Given the description of an element on the screen output the (x, y) to click on. 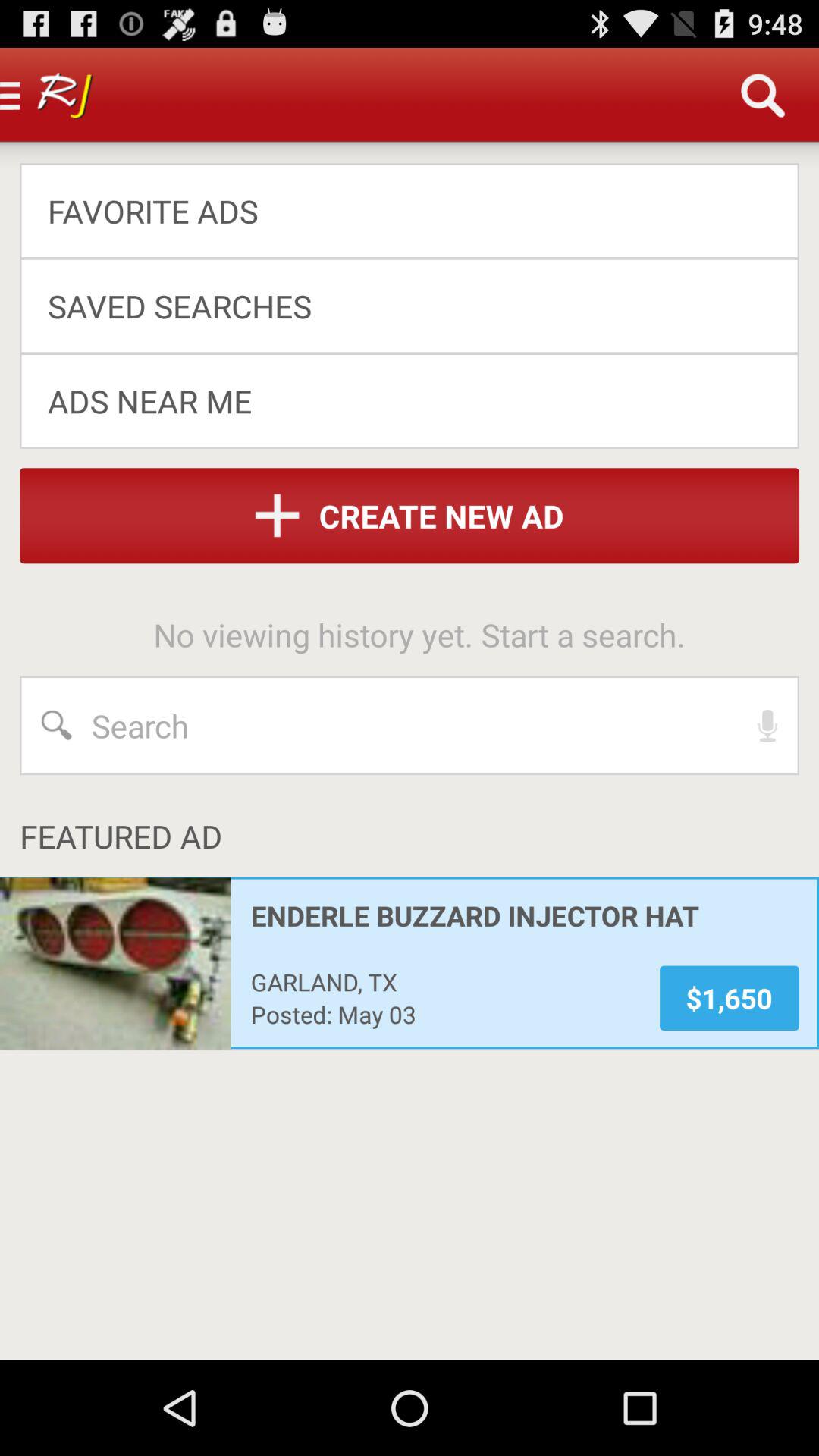
choose the app above posted: may 03 app (444, 981)
